Given the description of an element on the screen output the (x, y) to click on. 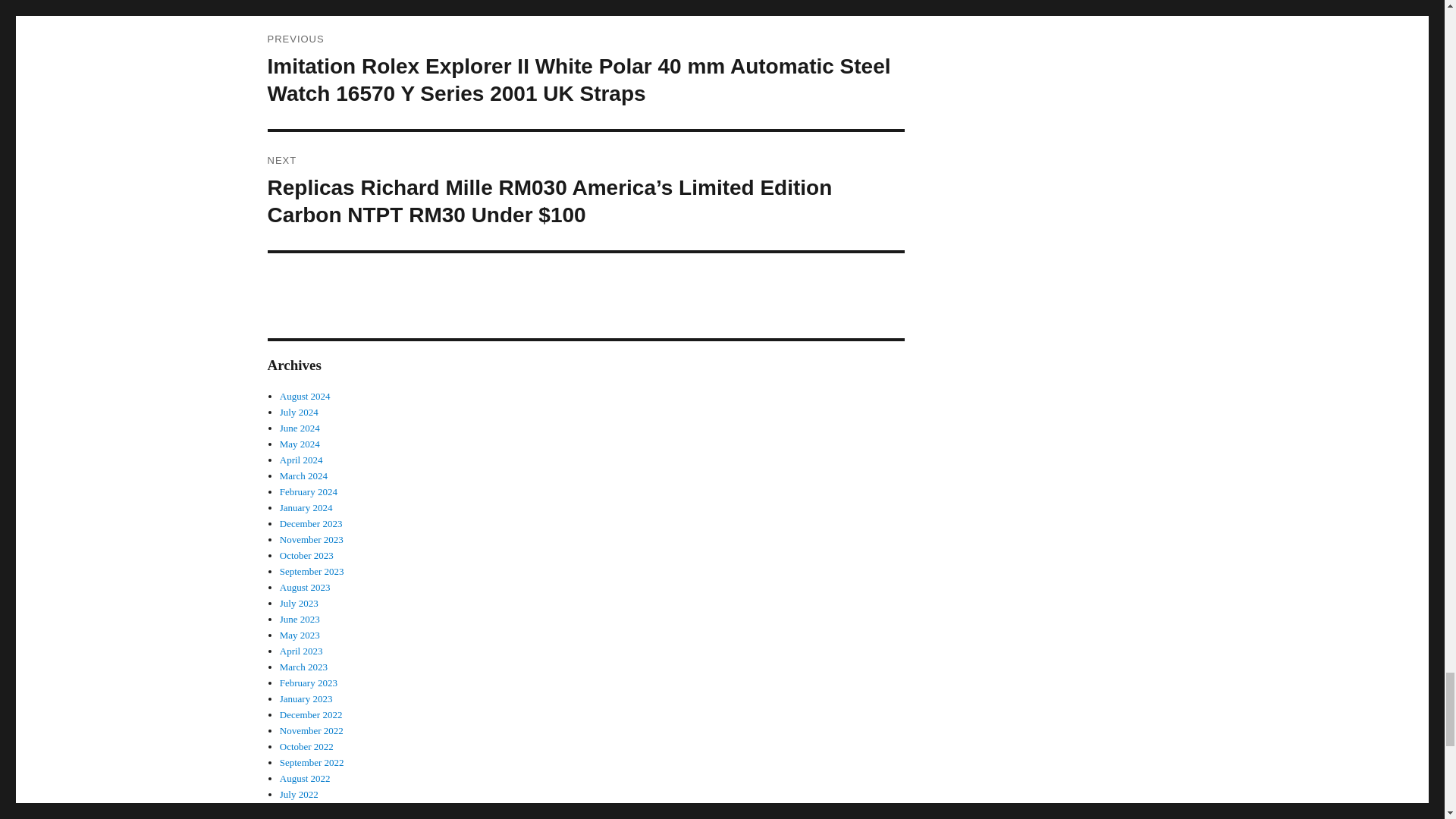
April 2023 (301, 650)
October 2023 (306, 555)
December 2022 (310, 714)
February 2024 (308, 491)
March 2024 (303, 475)
January 2024 (306, 507)
June 2024 (299, 428)
July 2023 (298, 603)
November 2022 (311, 730)
May 2024 (299, 443)
